Given the description of an element on the screen output the (x, y) to click on. 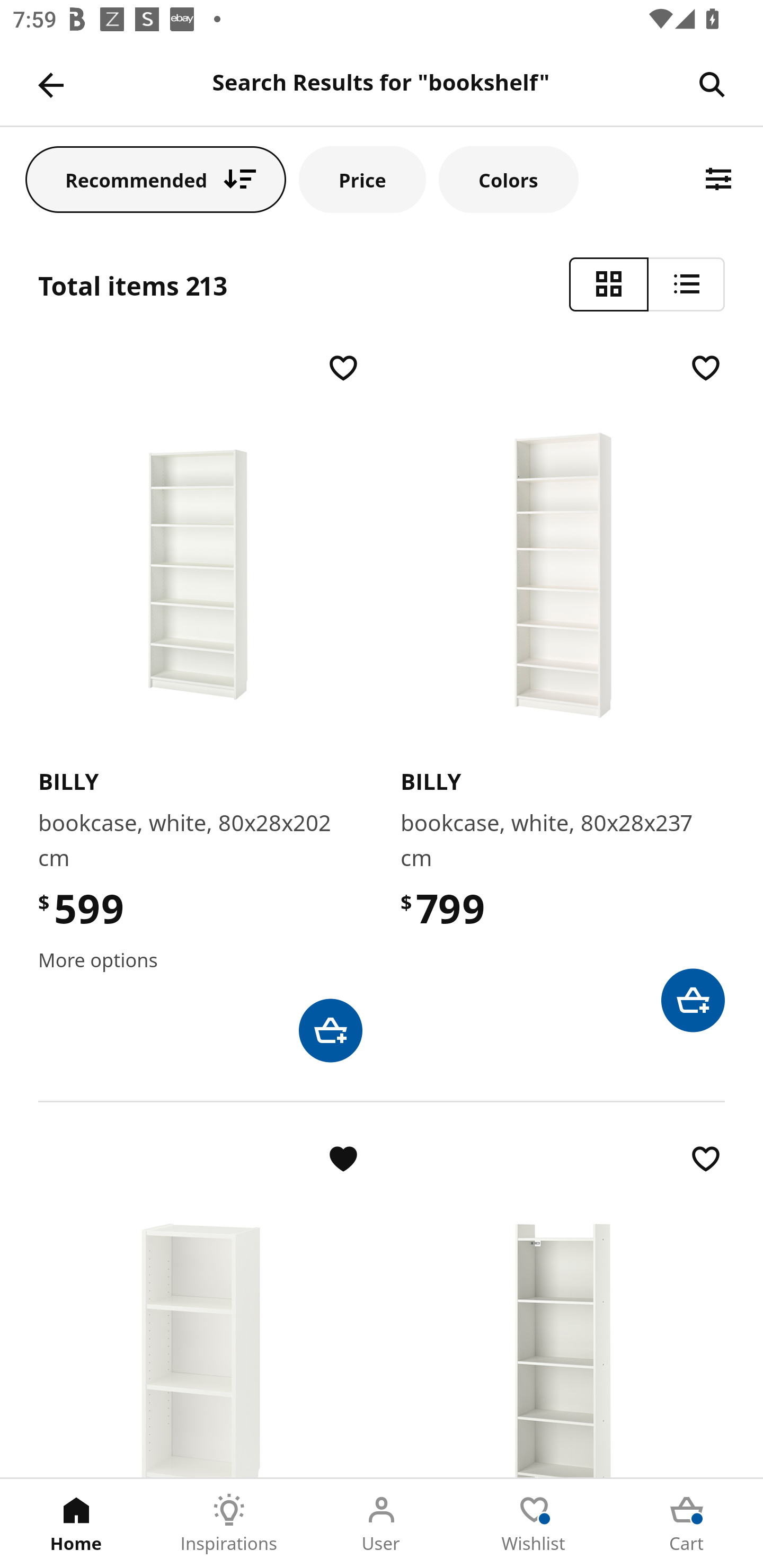
Recommended (155, 179)
Price (362, 179)
Colors (508, 179)
​B​I​L​L​Y​
bookcase, white, 80x28x237 cm
$
799 (562, 690)
​B​I​L​L​Y​
bookcase, white, 40x28x106 cm
$
279 (200, 1308)
Home
Tab 1 of 5 (76, 1522)
Inspirations
Tab 2 of 5 (228, 1522)
User
Tab 3 of 5 (381, 1522)
Wishlist
Tab 4 of 5 (533, 1522)
Cart
Tab 5 of 5 (686, 1522)
